Given the description of an element on the screen output the (x, y) to click on. 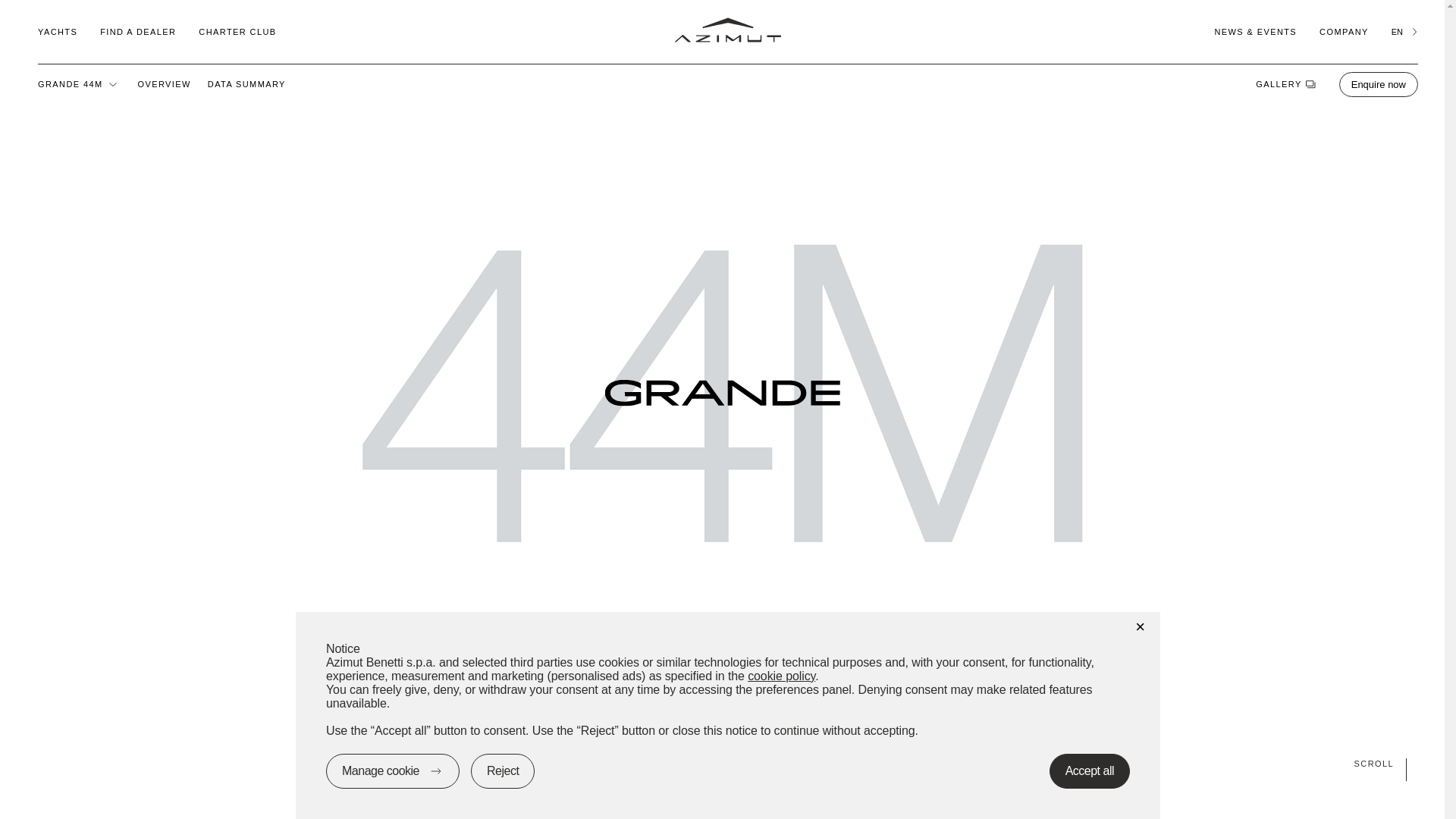
CHARTER CLUB (237, 31)
SCROLL (722, 763)
EN (1404, 31)
DATA SUMMARY (246, 83)
OVERVIEW (164, 83)
FIND A DEALER (138, 31)
Enquire now (1378, 83)
COMPANY (1343, 31)
YACHTS (57, 31)
